Given the description of an element on the screen output the (x, y) to click on. 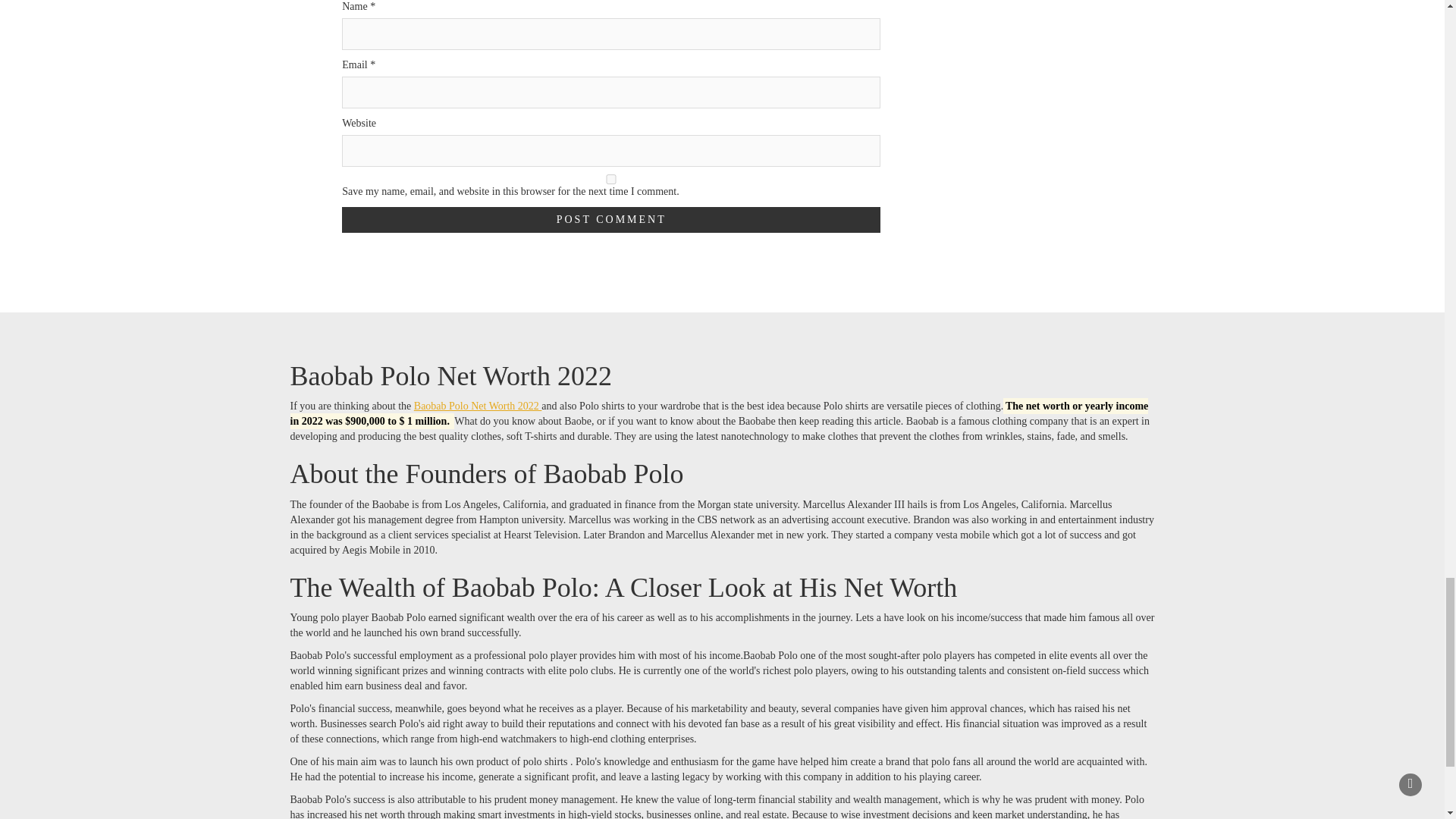
yes (611, 179)
Post Comment (611, 219)
Post Comment (611, 219)
